Given the description of an element on the screen output the (x, y) to click on. 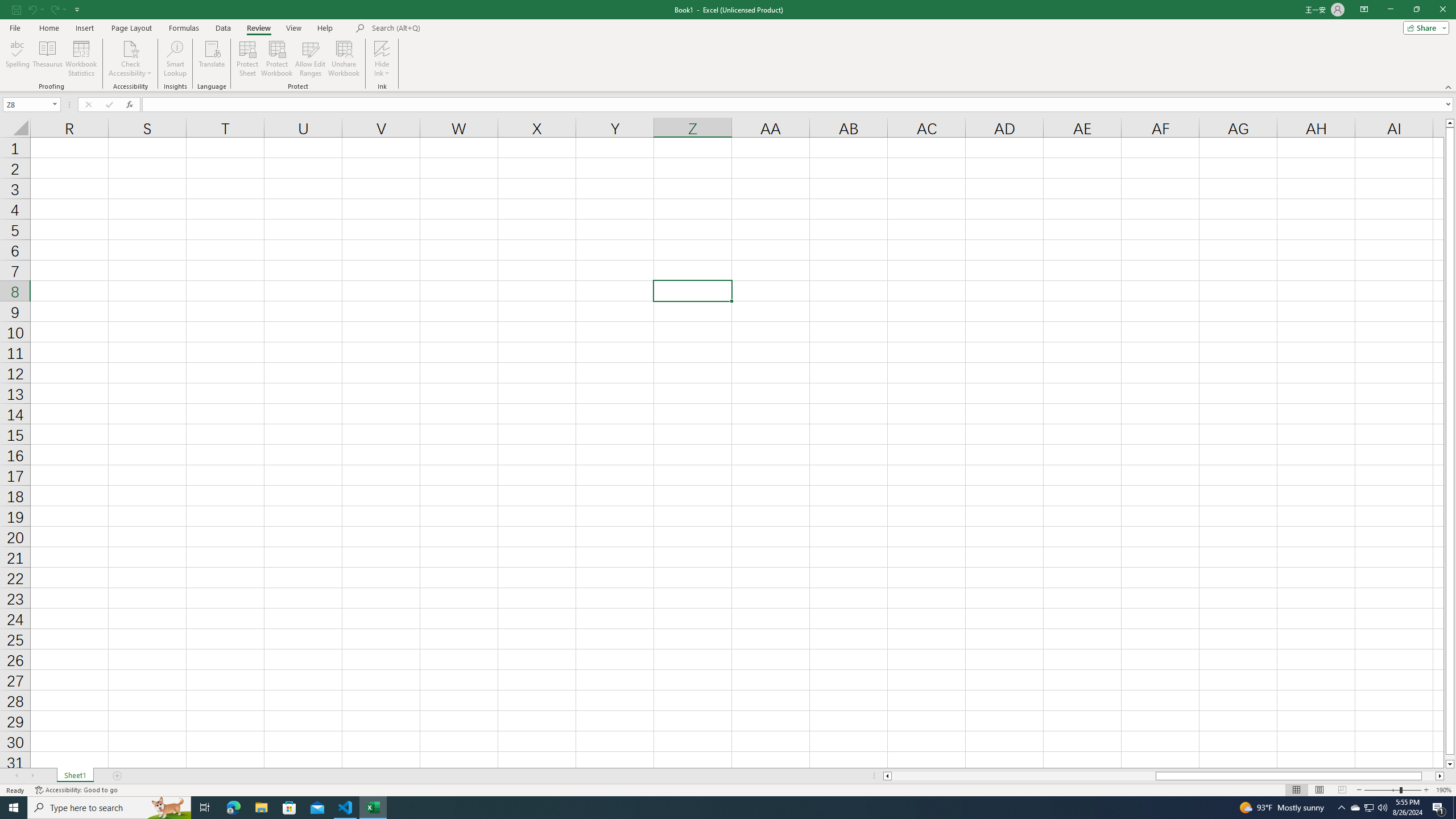
Spelling... (17, 58)
Check Accessibility (129, 48)
Translate (211, 58)
Smart Lookup (175, 58)
